Given the description of an element on the screen output the (x, y) to click on. 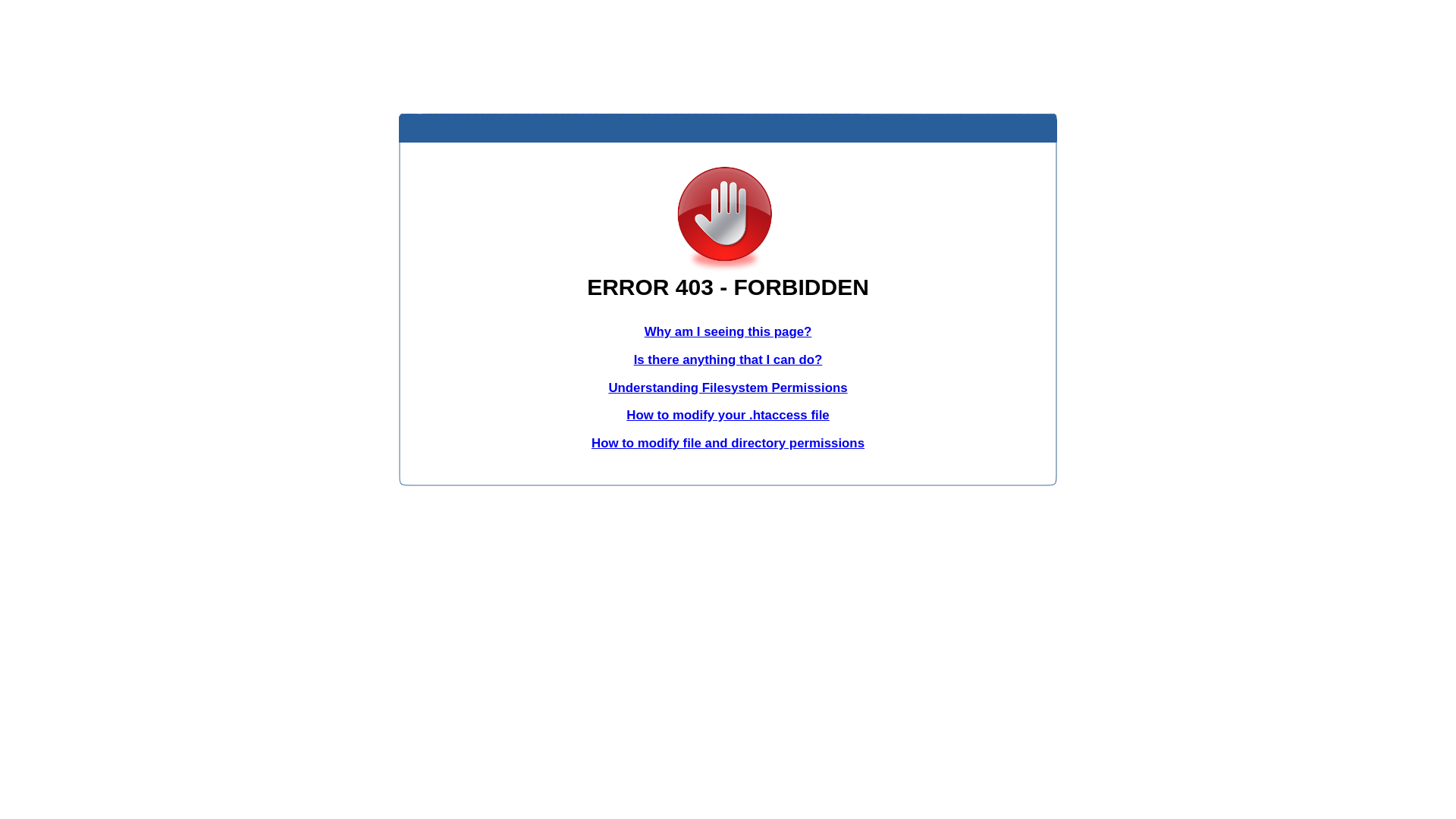
Why am I seeing this page? Element type: text (728, 331)
Is there anything that I can do? Element type: text (727, 359)
How to modify your .htaccess file Element type: text (727, 414)
How to modify file and directory permissions Element type: text (727, 443)
Understanding Filesystem Permissions Element type: text (727, 387)
